Given the description of an element on the screen output the (x, y) to click on. 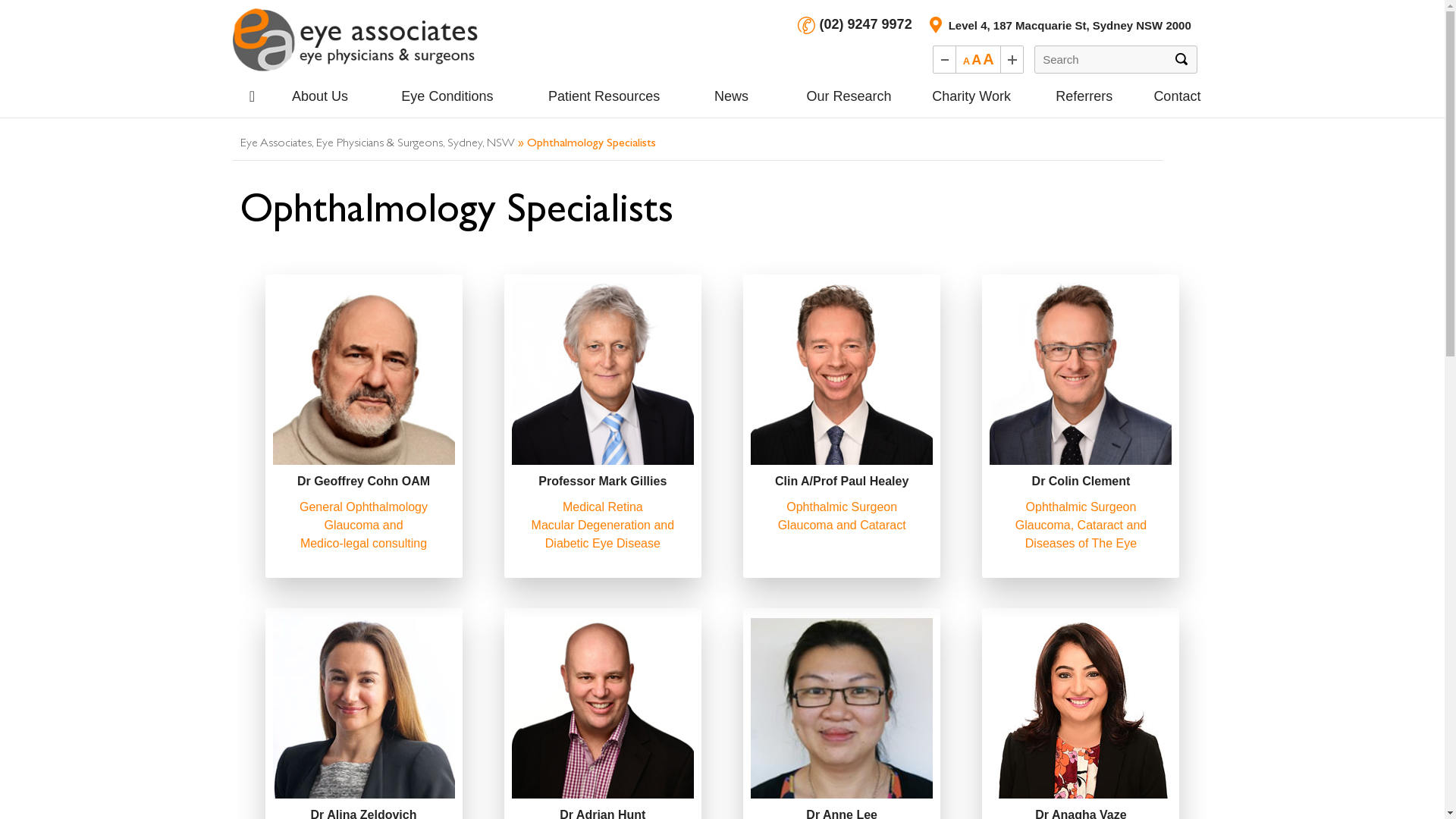
Home Element type: text (251, 98)
(02) 9247 9972 Element type: text (854, 23)
Contact Element type: text (1176, 95)
Clin A/Prof Paul Healey Element type: text (841, 480)
Submit Element type: text (1182, 59)
Eye Associates, Eye Physicians & Surgeons, Sydney, NSW Element type: text (376, 144)
About Us Element type: text (319, 95)
A Element type: text (1011, 59)
Level 4, 187 Macquarie St, Sydney NSW 2000 Element type: text (1058, 25)
AAA Element type: text (978, 59)
Patient Resources Element type: text (603, 95)
News Element type: text (731, 95)
Professor Mark Gillies Element type: text (602, 480)
Dr Colin Clement Element type: text (1081, 480)
Our Research Element type: text (848, 95)
Referrers Element type: text (1083, 95)
Search Element type: hover (1115, 59)
A Element type: text (944, 59)
Dr Geoffrey Cohn OAM Element type: text (363, 480)
Charity Work Element type: text (971, 95)
Eye Conditions Element type: text (447, 95)
